Given the description of an element on the screen output the (x, y) to click on. 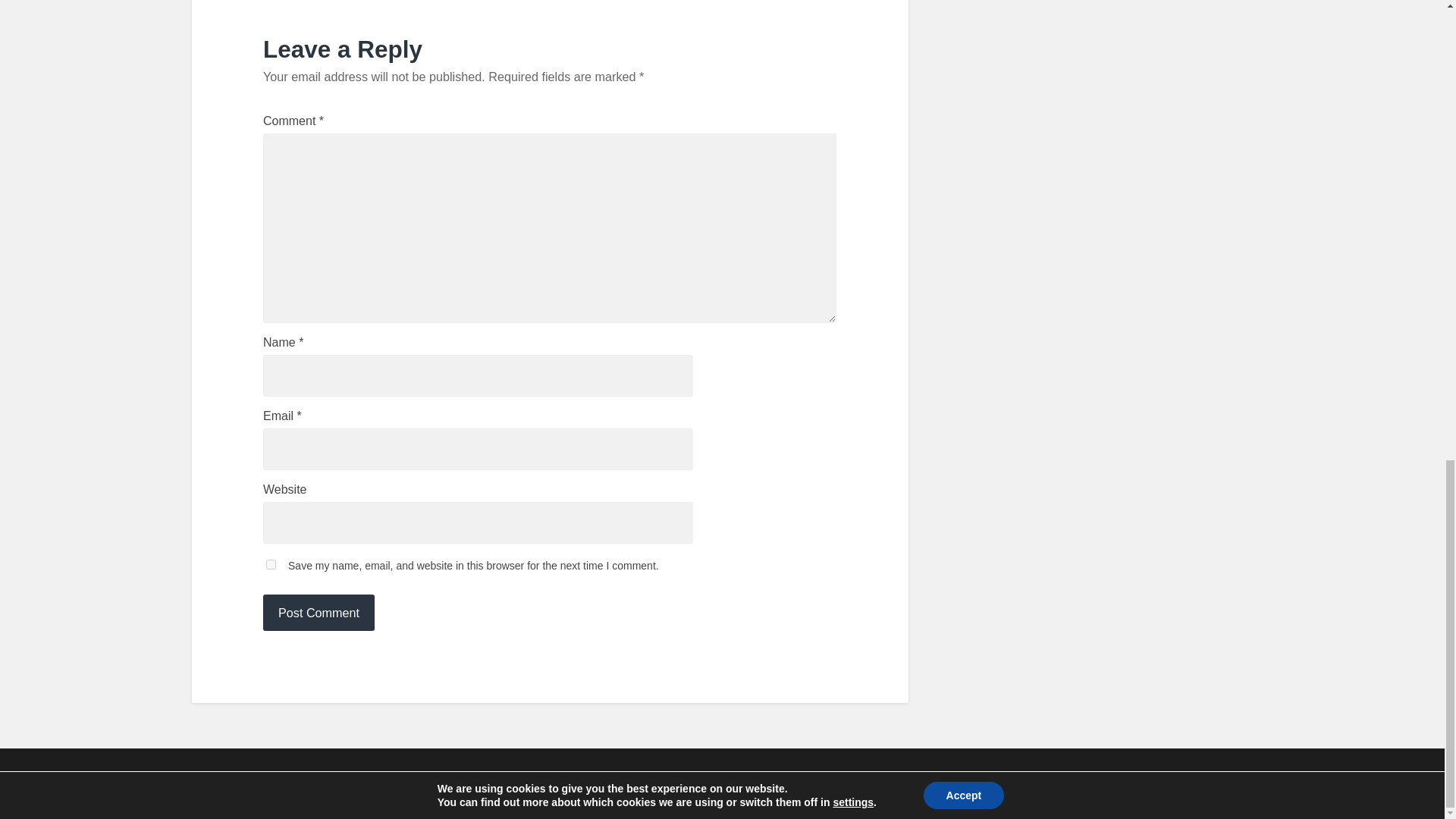
Post Comment (318, 612)
LISA A. BRUNDAGE (283, 782)
WORDPRESS (464, 782)
yes (271, 564)
Post Comment (318, 612)
ANDERS NOREN (1167, 782)
